Given the description of an element on the screen output the (x, y) to click on. 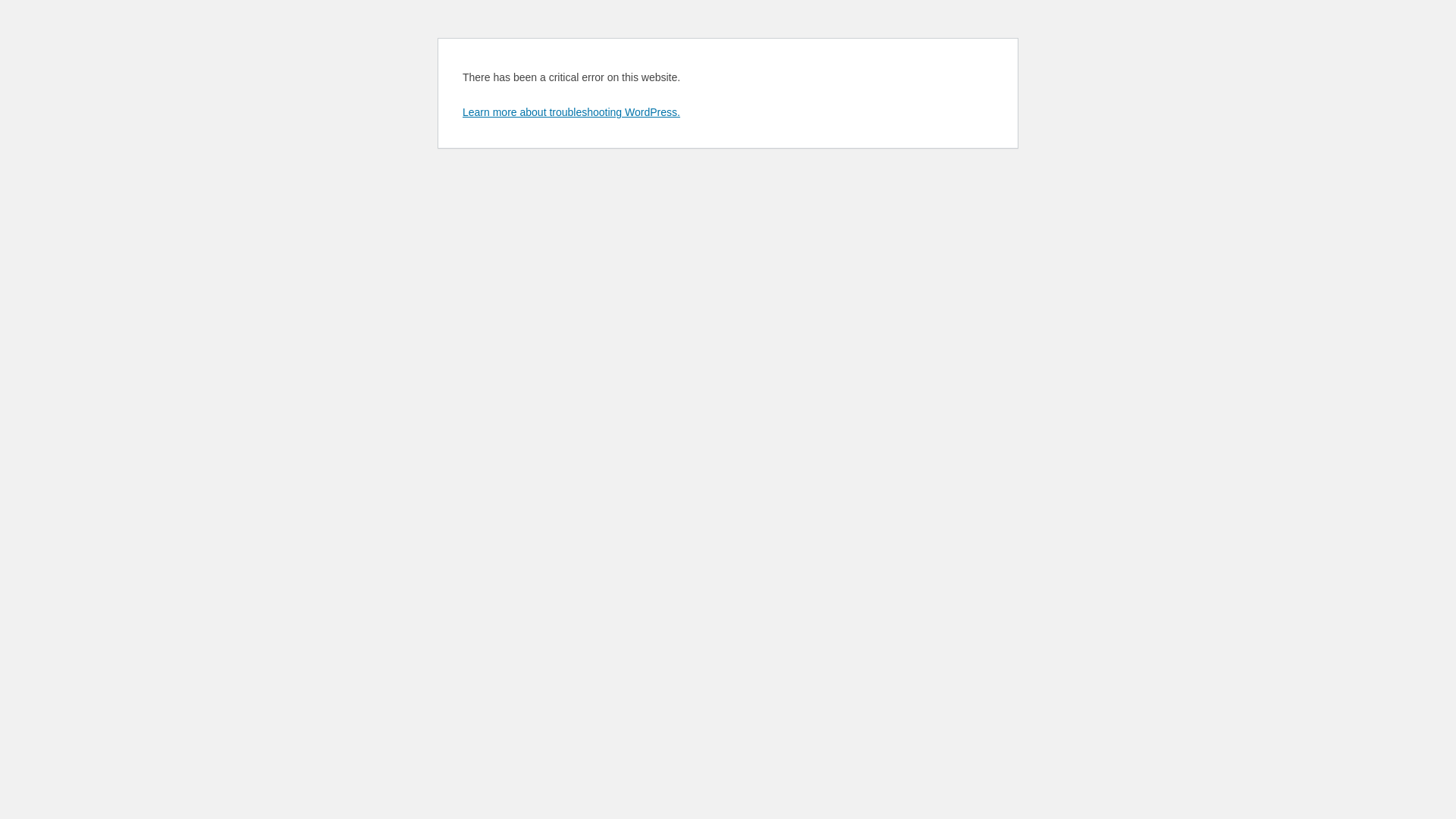
Learn more about troubleshooting WordPress. Element type: text (571, 112)
